Given the description of an element on the screen output the (x, y) to click on. 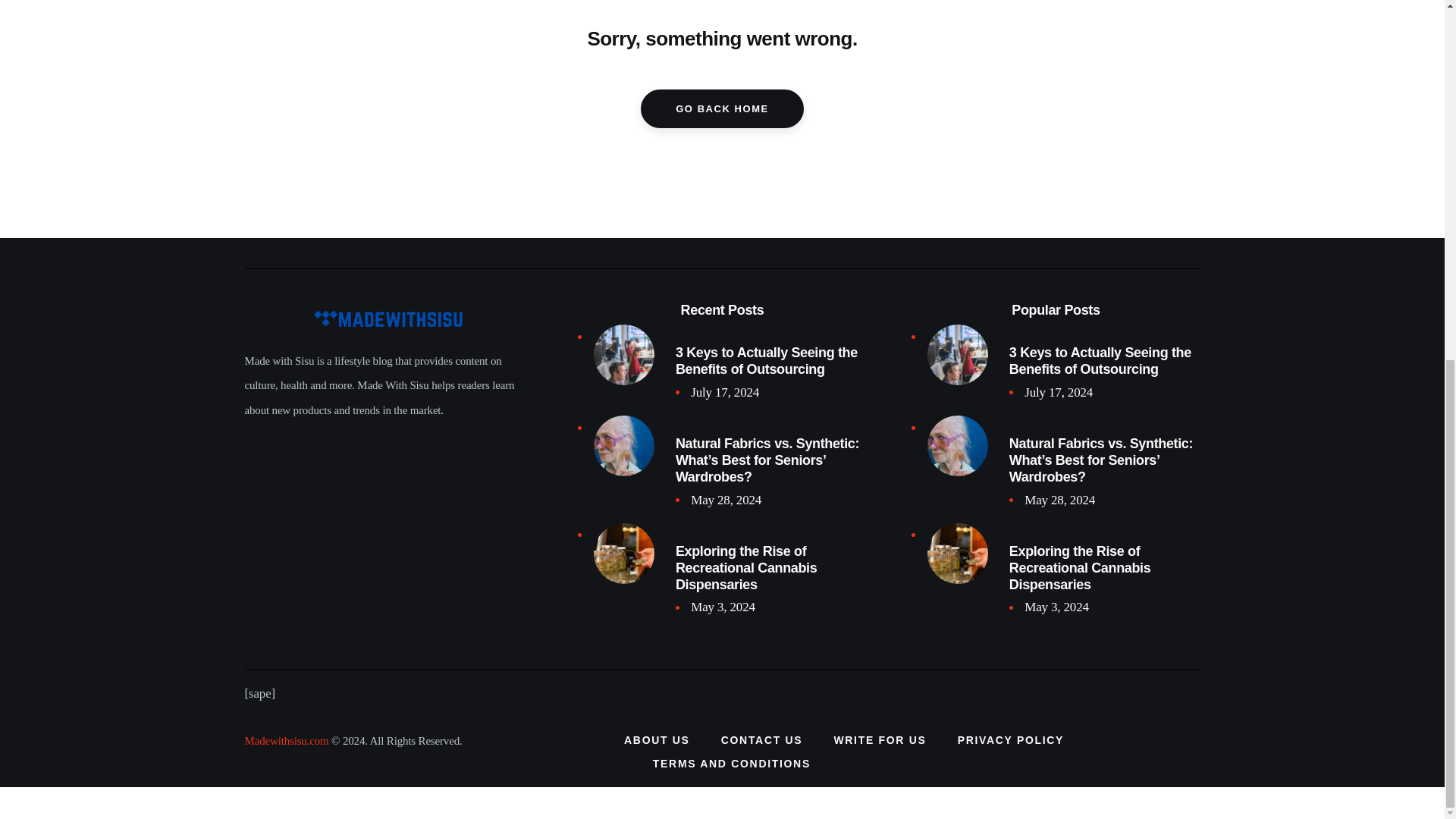
GO BACK HOME (721, 108)
3 Keys to Actually Seeing the Benefits of Outsourcing (770, 360)
